Given the description of an element on the screen output the (x, y) to click on. 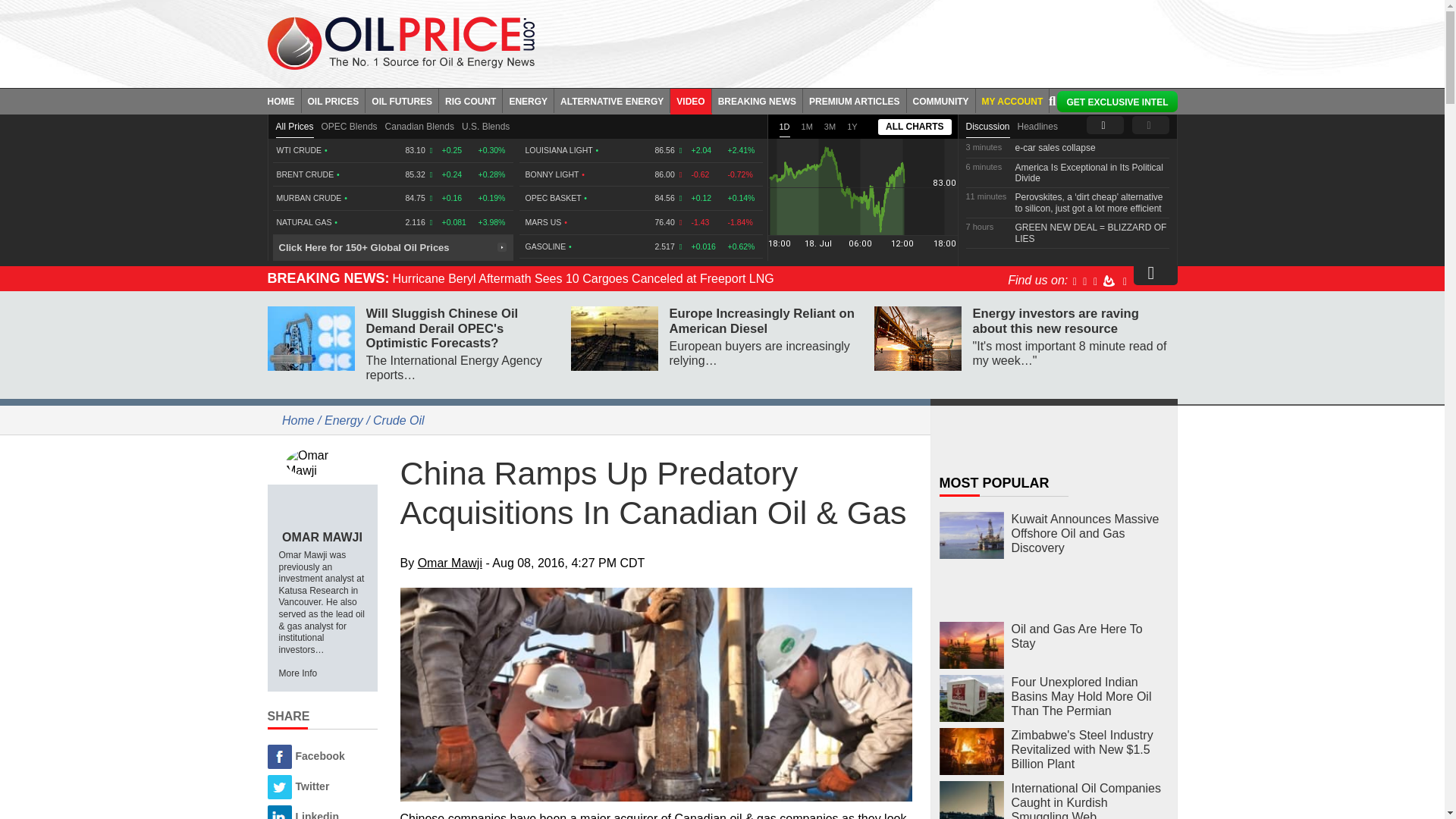
MY ACCOUNT (1012, 100)
PREMIUM ARTICLES (855, 100)
Oil workers (656, 694)
International Oil Companies Caught in Kurdish Smuggling Web (971, 800)
OIL PRICES (333, 100)
COMMUNITY (941, 100)
Europe Increasingly Reliant on American Diesel (614, 338)
RIG COUNT (470, 100)
Oil and Gas Are Here To Stay (971, 645)
HOME (283, 100)
ENERGY (528, 100)
Kuwait Announces Massive Offshore Oil and Gas Discovery (971, 535)
Omar Mawji (321, 462)
VIDEO (690, 100)
